Given the description of an element on the screen output the (x, y) to click on. 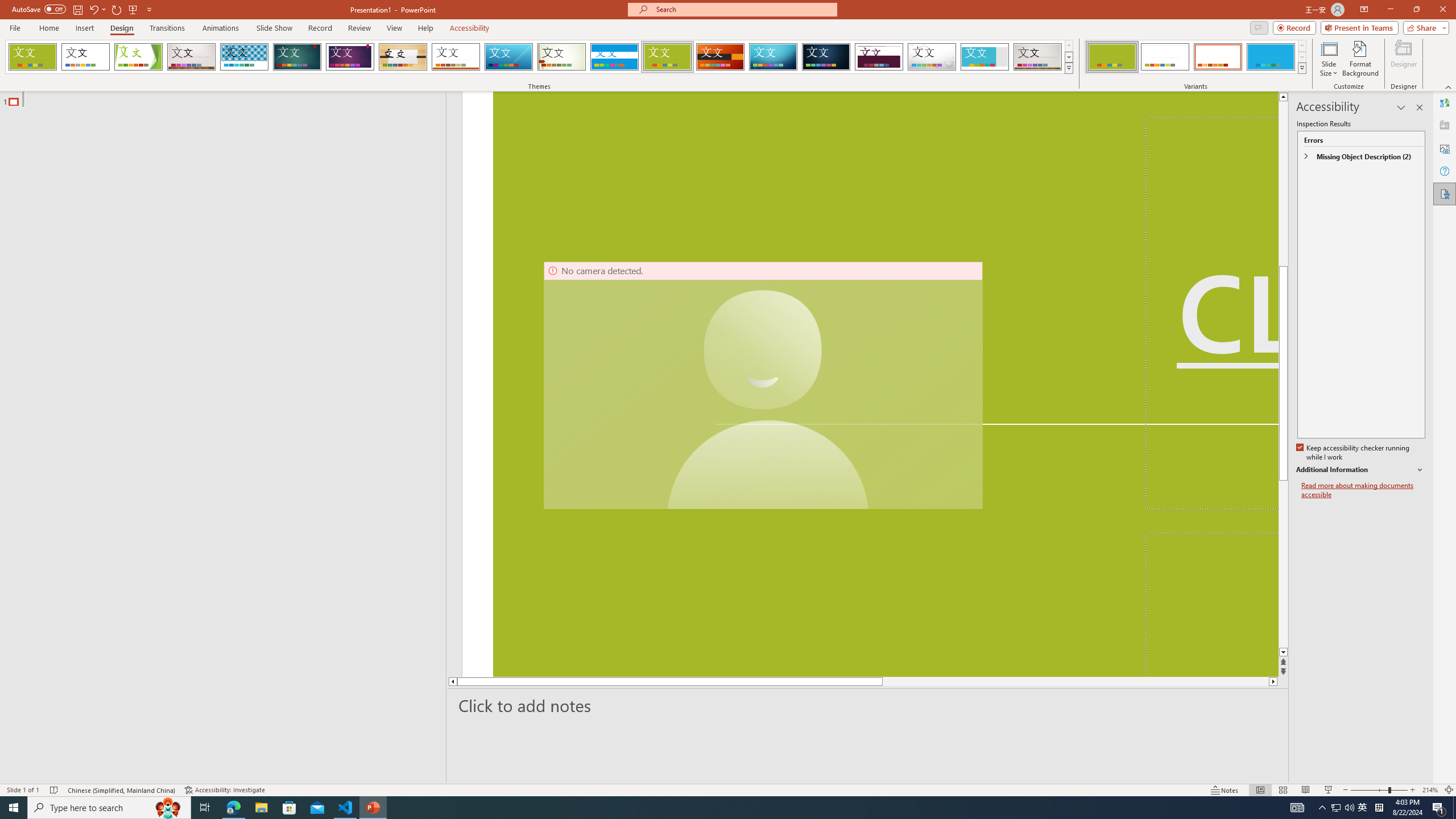
Additional Information (1360, 469)
Variants (1301, 67)
Retrospect (455, 56)
